Given the description of an element on the screen output the (x, y) to click on. 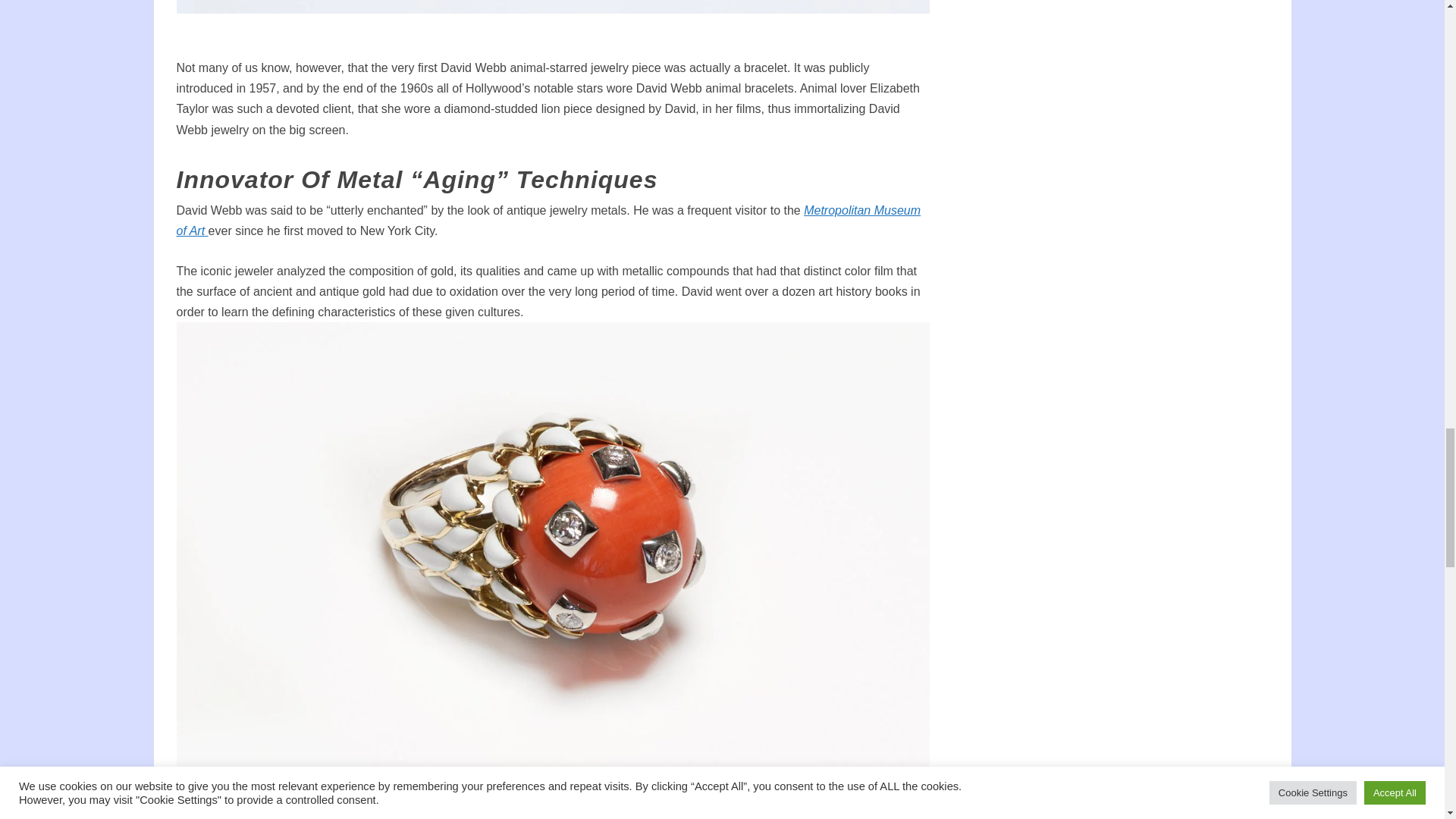
metropolitan museum of art- metmuseum (548, 220)
Metropolitan Museum of Art (548, 220)
